Given the description of an element on the screen output the (x, y) to click on. 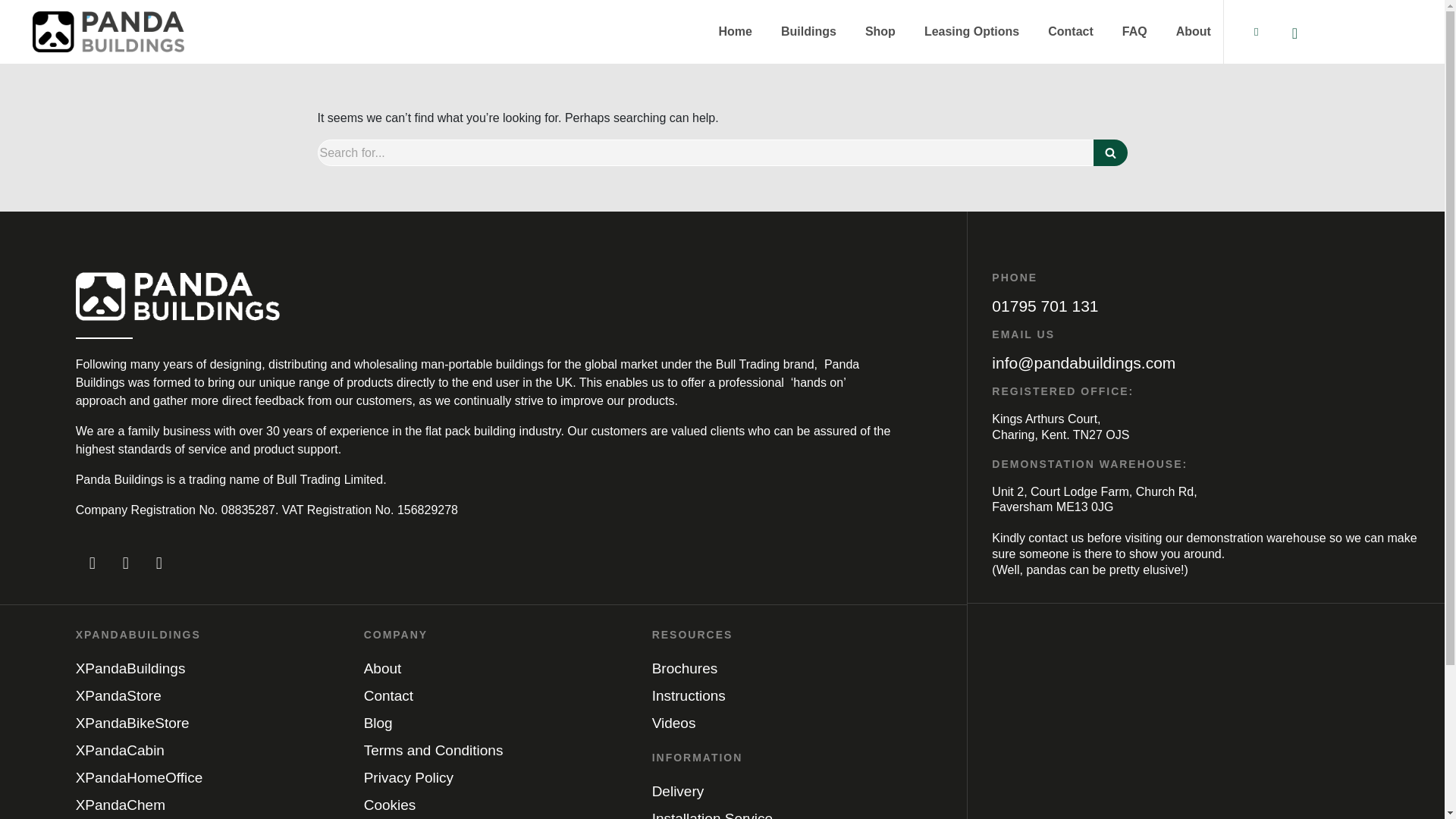
Contact (1070, 31)
XPandaBuildings (195, 668)
Buildings (807, 31)
Skip to content (11, 31)
Leasing Options (971, 31)
